Given the description of an element on the screen output the (x, y) to click on. 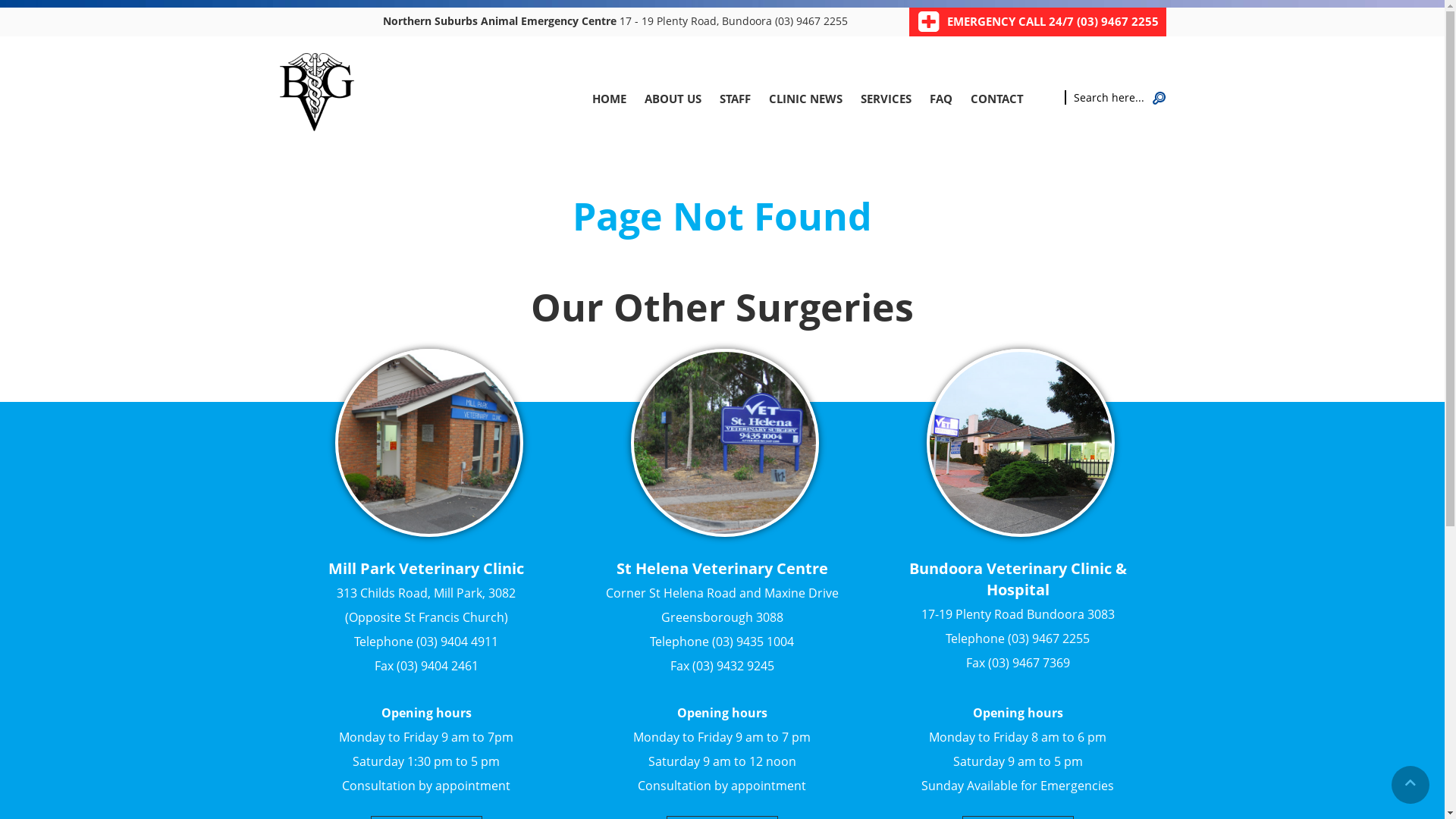
FAQ Element type: text (940, 98)
Search Element type: text (1159, 96)
SERVICES Element type: text (884, 98)
CONTACT Element type: text (996, 98)
ABOUT US Element type: text (672, 98)
STAFF Element type: text (733, 98)
CLINIC NEWS Element type: text (805, 98)
HOME Element type: text (608, 98)
EMERGENCY CALL 24/7 (03) 9467 2255 Element type: text (1051, 20)
Scroll Top Element type: text (1410, 784)
